Given the description of an element on the screen output the (x, y) to click on. 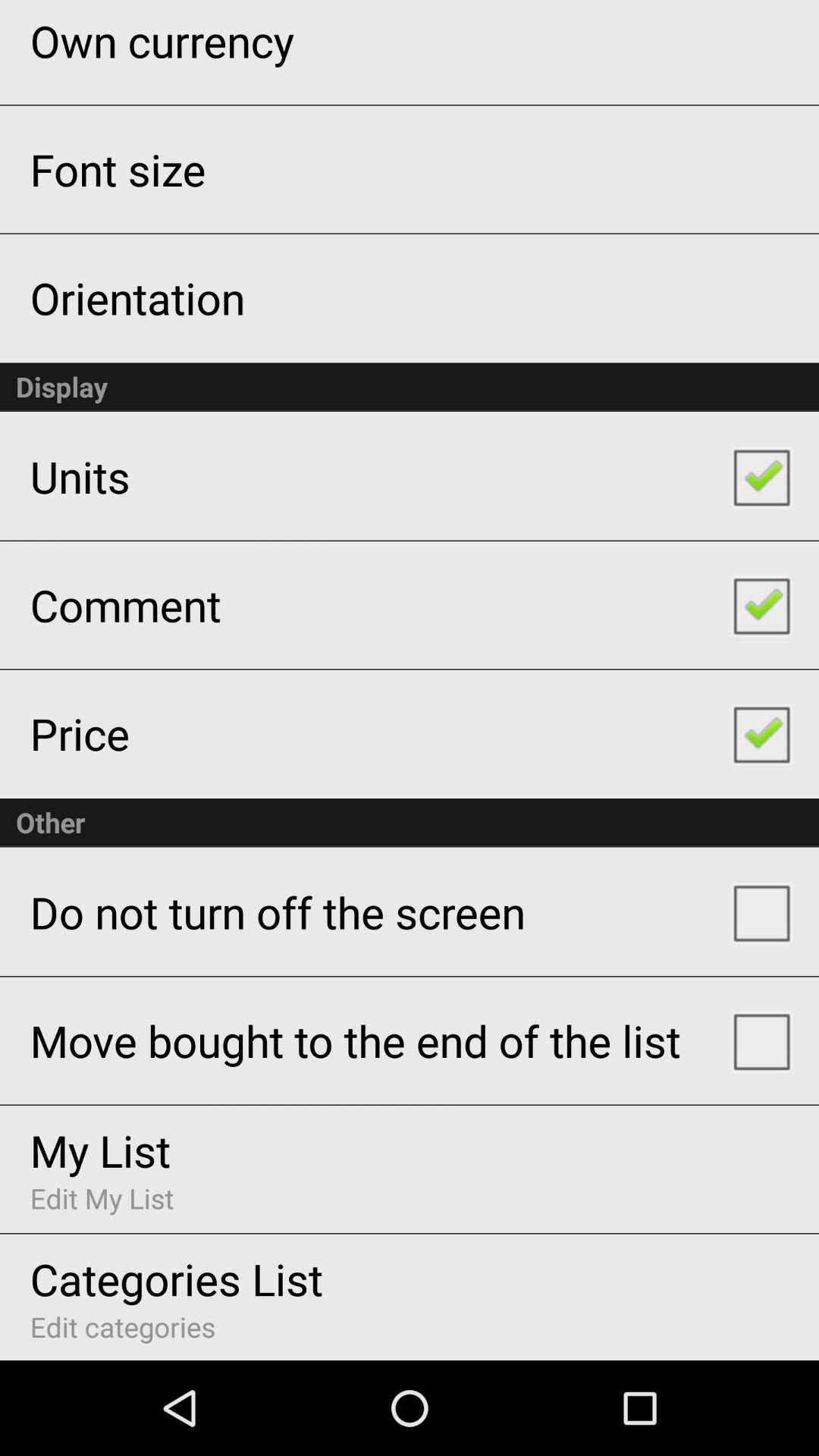
scroll to the units (80, 476)
